Given the description of an element on the screen output the (x, y) to click on. 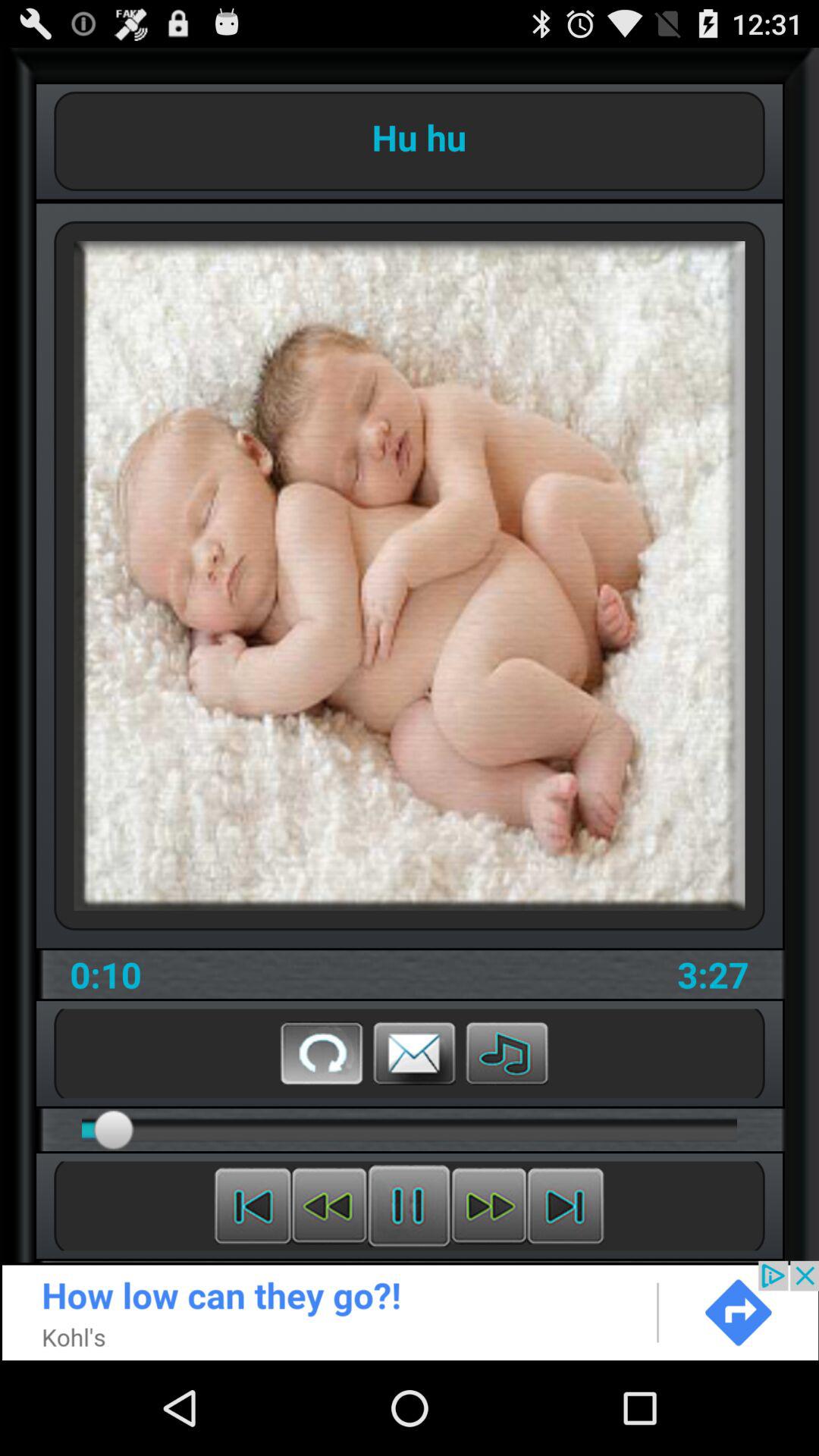
repeat lullaby (321, 1053)
